Given the description of an element on the screen output the (x, y) to click on. 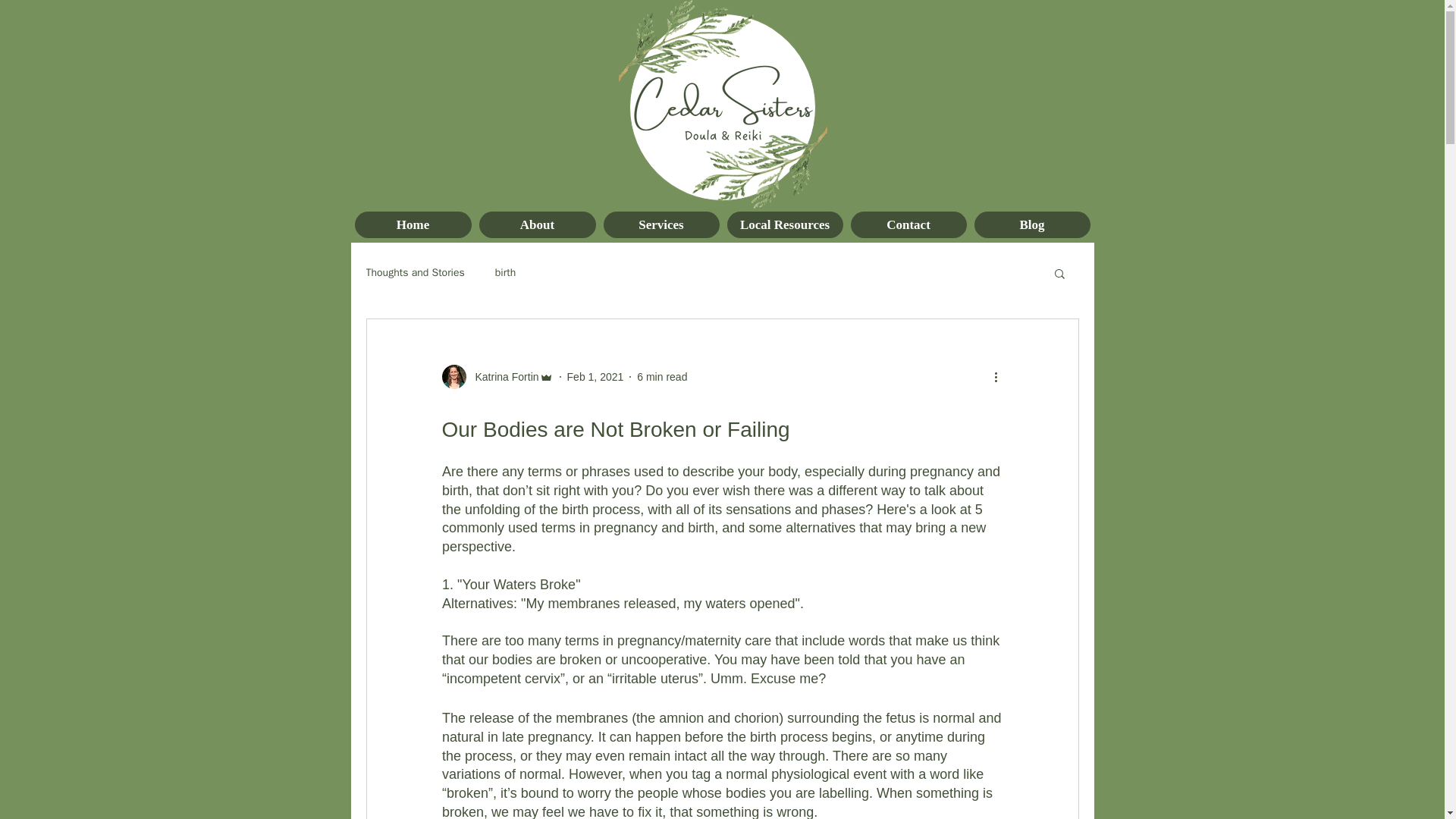
Services (661, 224)
Local Resources (784, 224)
Katrina Fortin (501, 376)
Contact (908, 224)
6 min read (662, 376)
Blog (1031, 224)
Feb 1, 2021 (595, 376)
Home (413, 224)
Katrina Fortin (497, 376)
About (537, 224)
Thoughts and Stories (414, 273)
birth (505, 273)
